Given the description of an element on the screen output the (x, y) to click on. 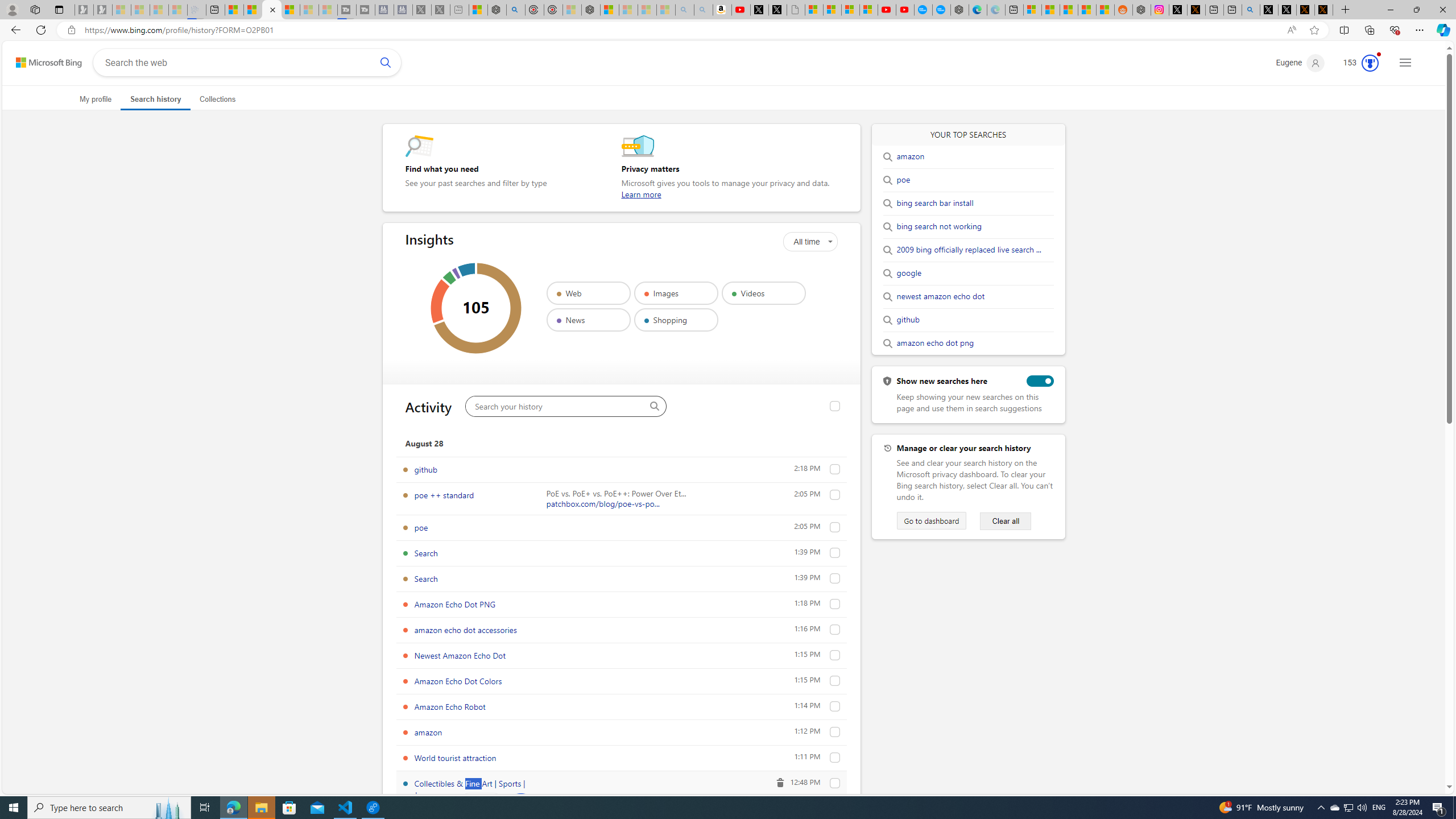
X (778, 9)
github - Search (1251, 9)
